Given the description of an element on the screen output the (x, y) to click on. 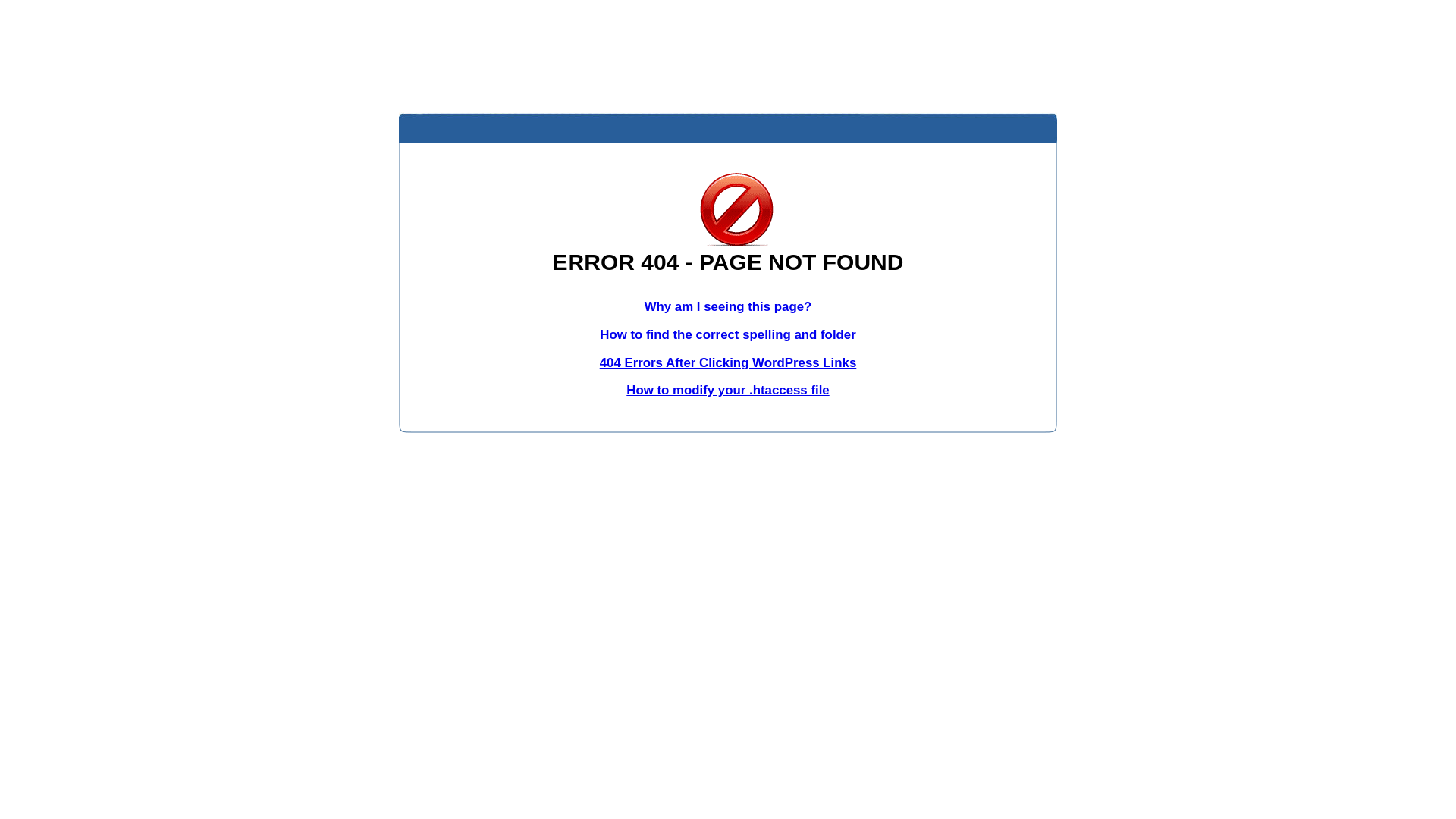
404 Errors After Clicking WordPress Links Element type: text (727, 362)
How to find the correct spelling and folder Element type: text (727, 334)
How to modify your .htaccess file Element type: text (727, 389)
Why am I seeing this page? Element type: text (728, 306)
